Given the description of an element on the screen output the (x, y) to click on. 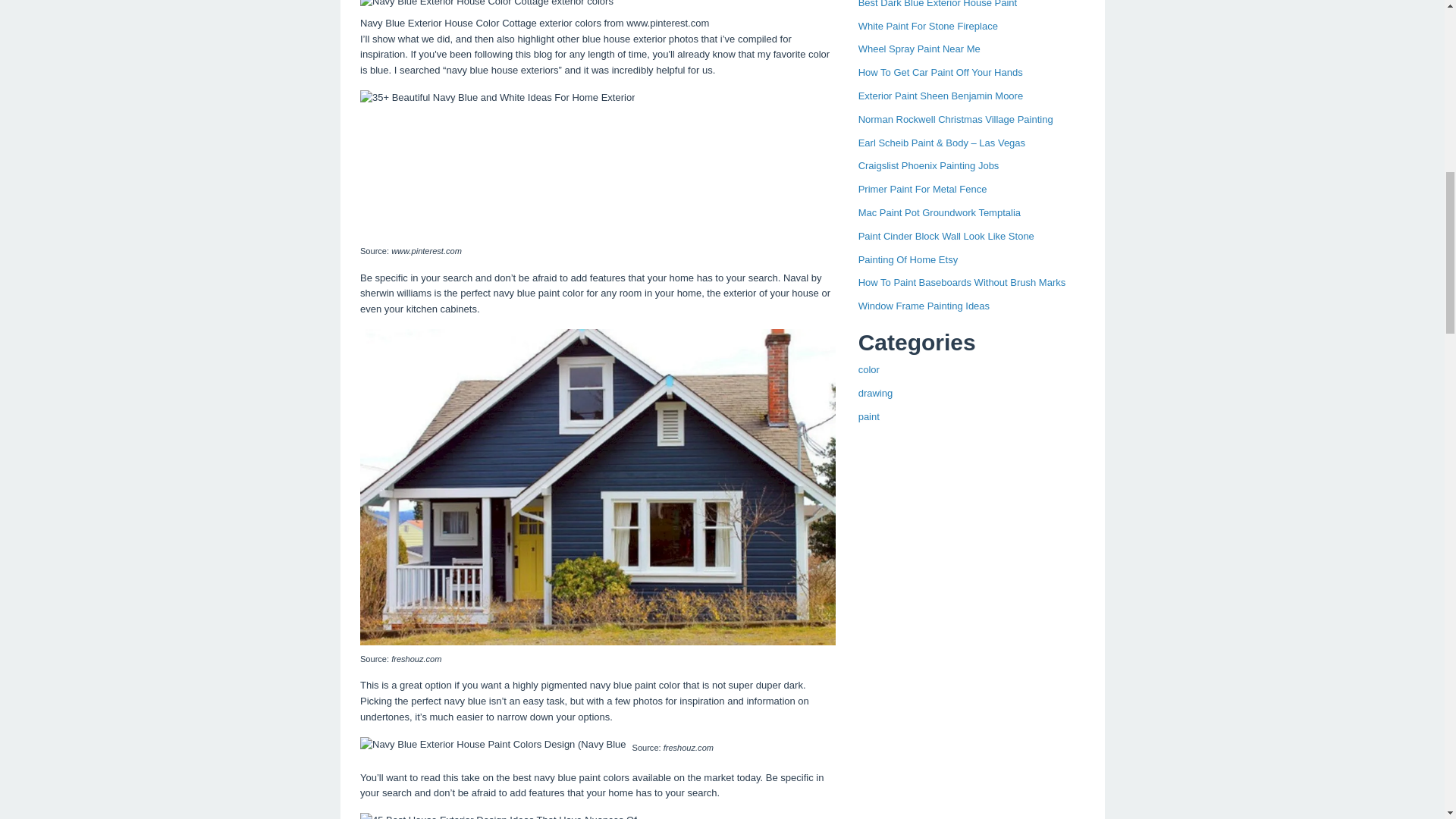
Norman Rockwell Christmas Village Painting (955, 119)
Craigslist Phoenix Painting Jobs (928, 165)
Primer Paint For Metal Fence (923, 188)
Wheel Spray Paint Near Me (919, 48)
Exterior Paint Sheen Benjamin Moore (941, 95)
Best Dark Blue Exterior House Paint (938, 4)
How To Get Car Paint Off Your Hands (941, 71)
Mac Paint Pot Groundwork Temptalia (939, 212)
White Paint For Stone Fireplace (928, 25)
